Given the description of an element on the screen output the (x, y) to click on. 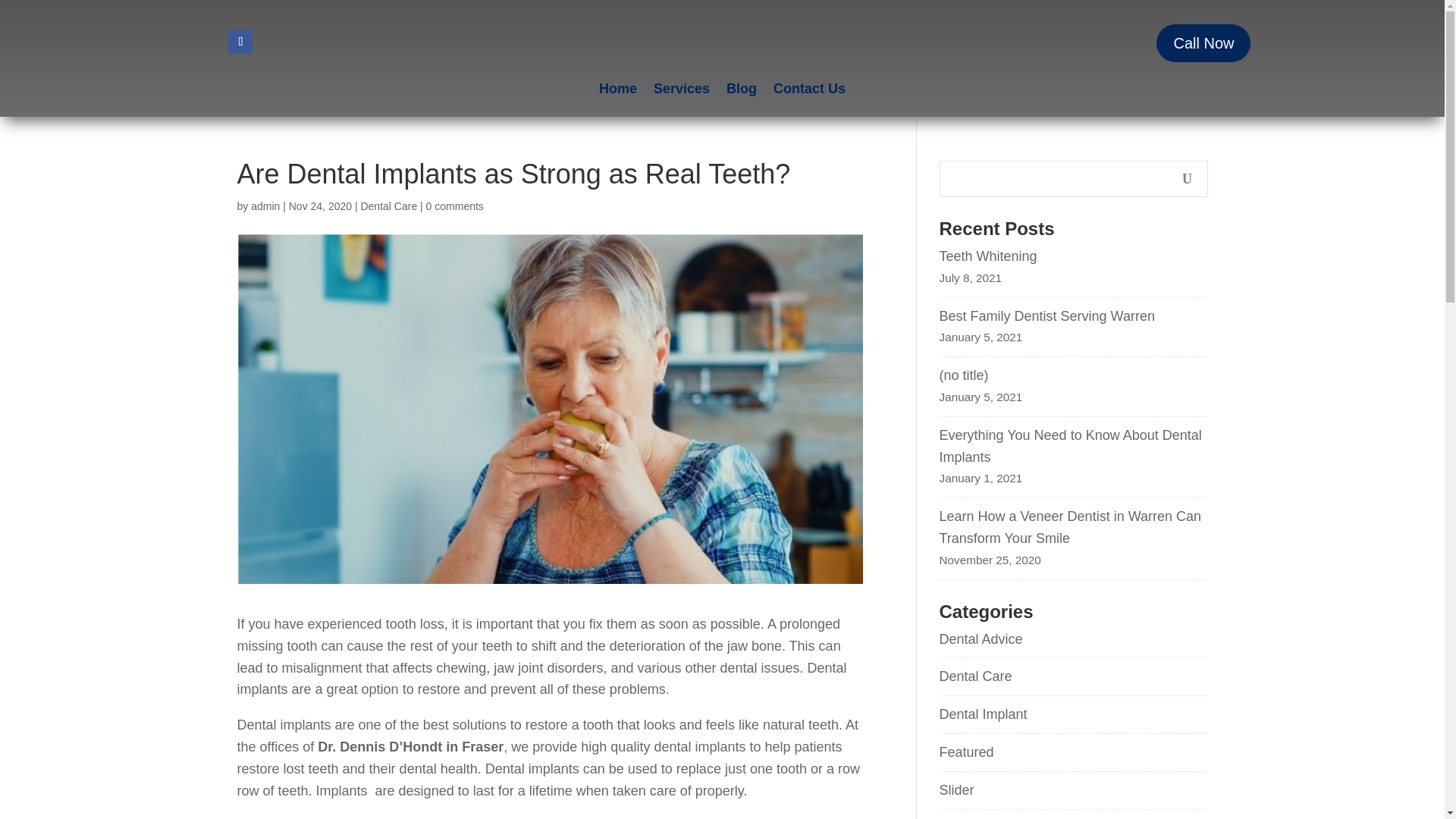
Dental Care (387, 205)
Everything You Need to Know About Dental Implants (1073, 446)
Dental Implant (982, 713)
Services (681, 91)
Best Family Dentist Serving Warren (1073, 316)
Call Now (1203, 43)
Posts by admin (264, 205)
Teeth Whitening (1073, 256)
Follow on Facebook (239, 41)
